Given the description of an element on the screen output the (x, y) to click on. 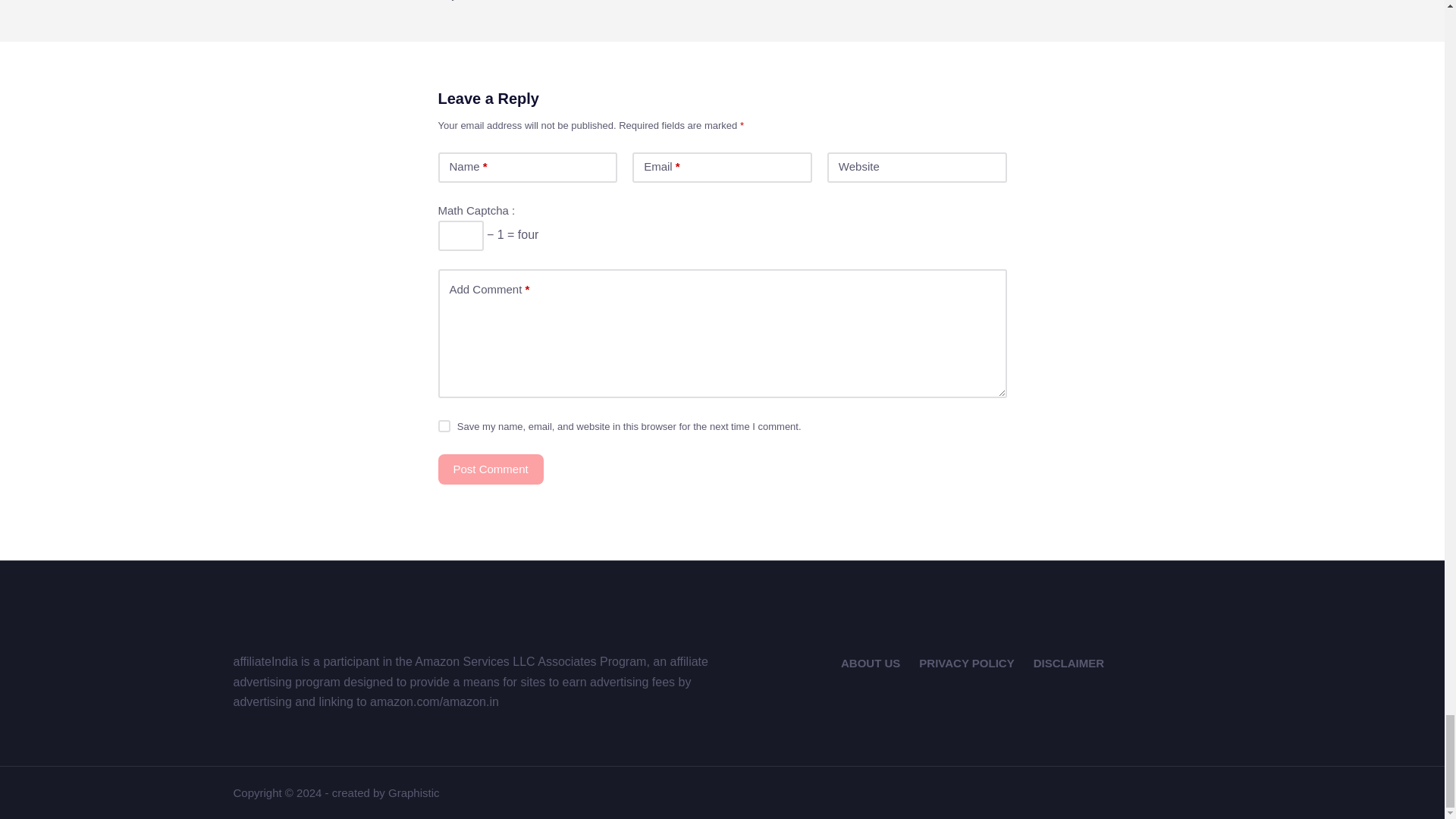
yes (443, 426)
